Given the description of an element on the screen output the (x, y) to click on. 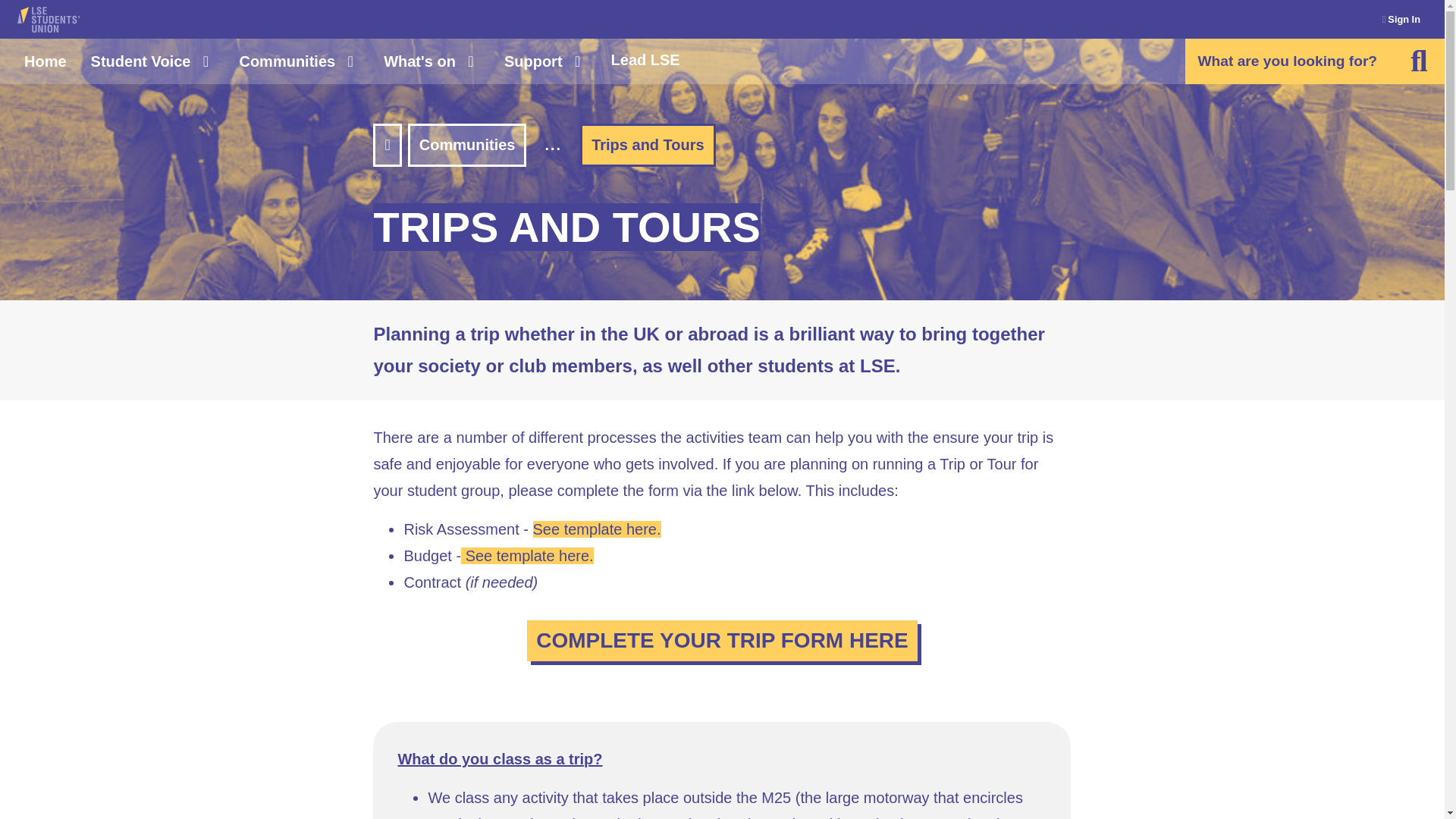
Home (44, 61)
Support (545, 61)
What's on (431, 61)
Return to LSESU site (48, 19)
Sign In (1404, 19)
Communities (299, 61)
Student Voice (152, 61)
